Given the description of an element on the screen output the (x, y) to click on. 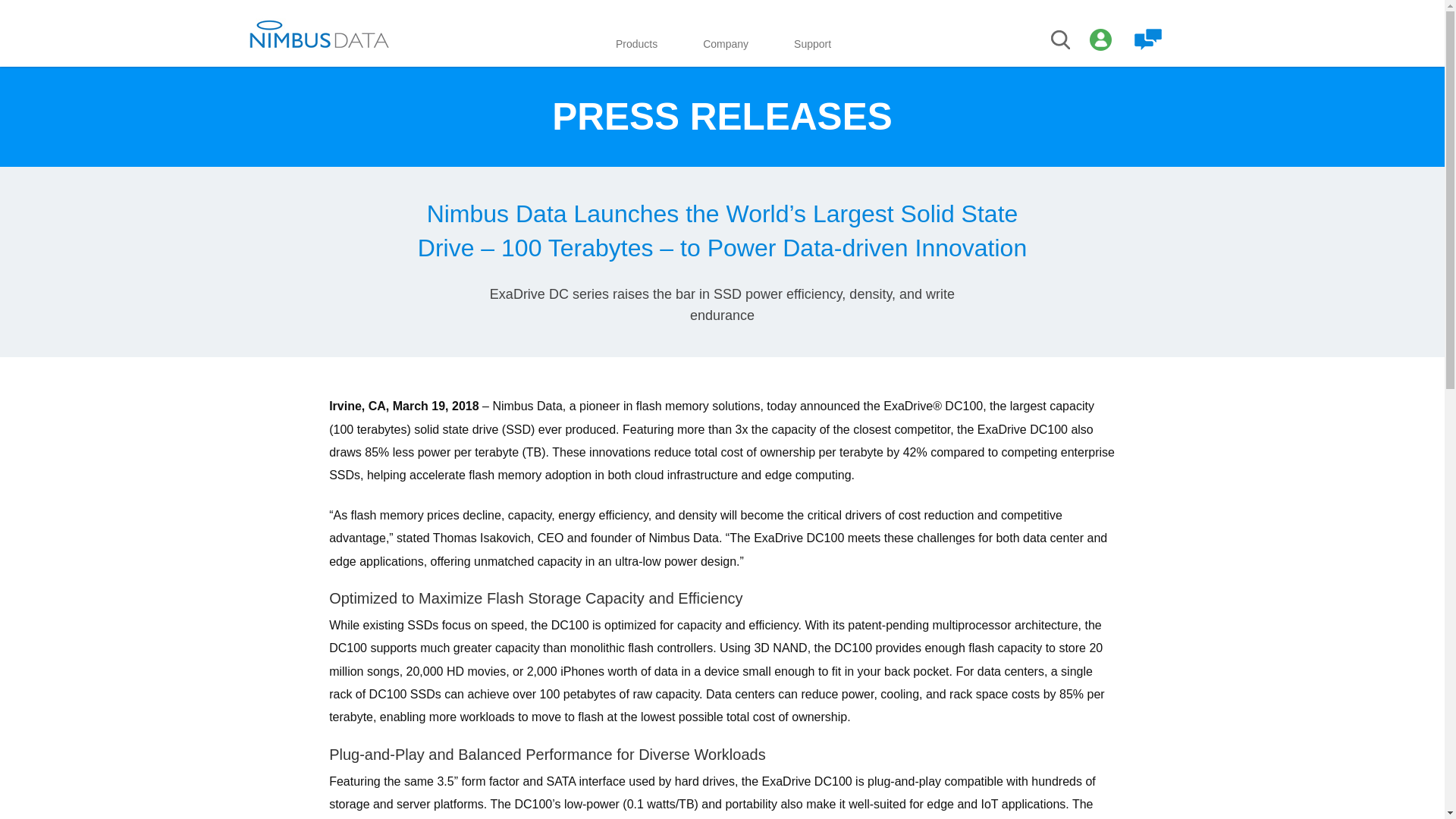
Login (1099, 39)
Support (812, 46)
Search (1061, 40)
Products (635, 46)
Company (725, 46)
Contact Us (1147, 38)
